Given the description of an element on the screen output the (x, y) to click on. 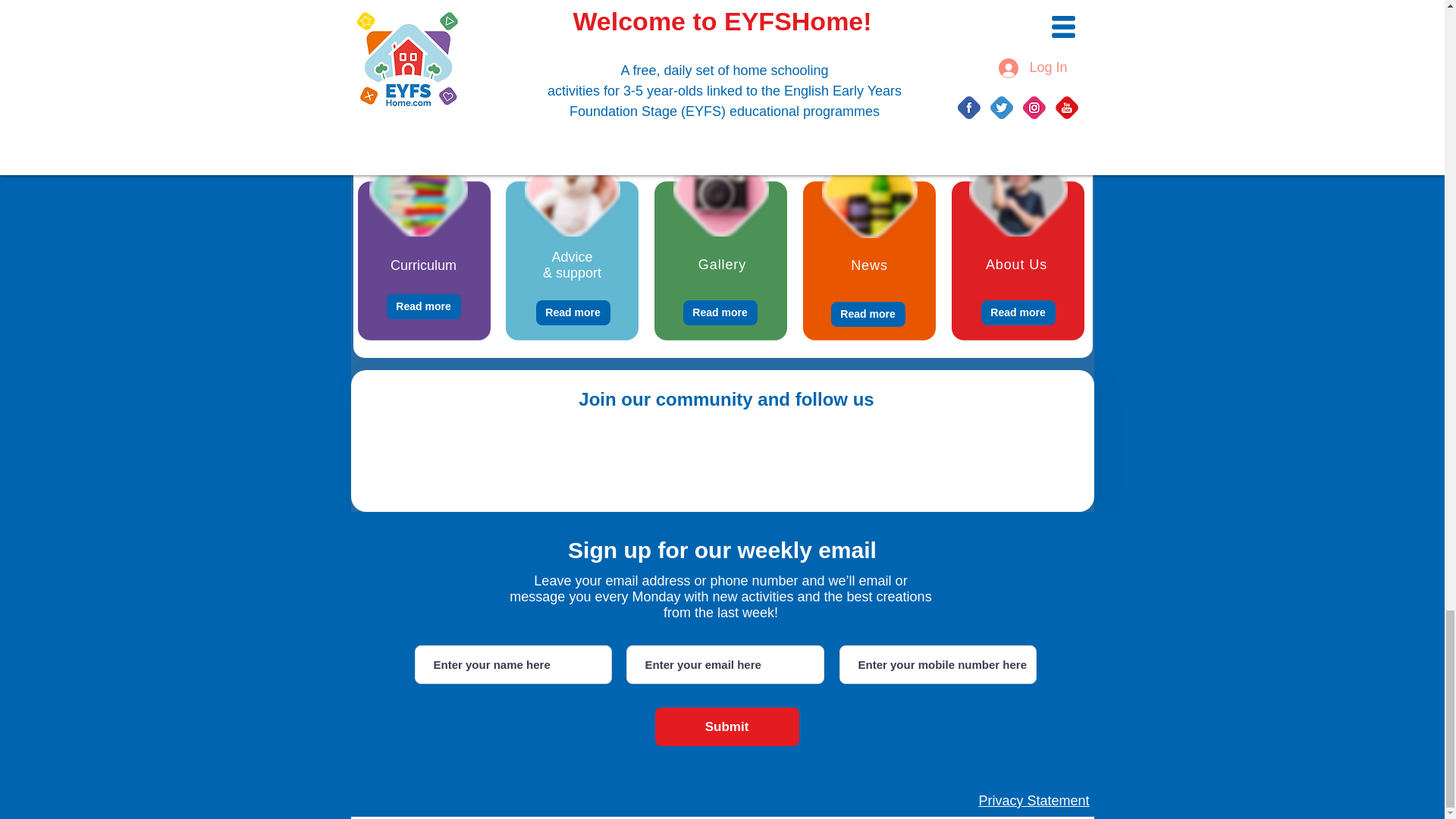
Read more (868, 314)
Read more (424, 306)
Read more (719, 312)
Read more (1018, 312)
Read more (572, 312)
Privacy Statement (1033, 800)
Submit (727, 726)
